Given the description of an element on the screen output the (x, y) to click on. 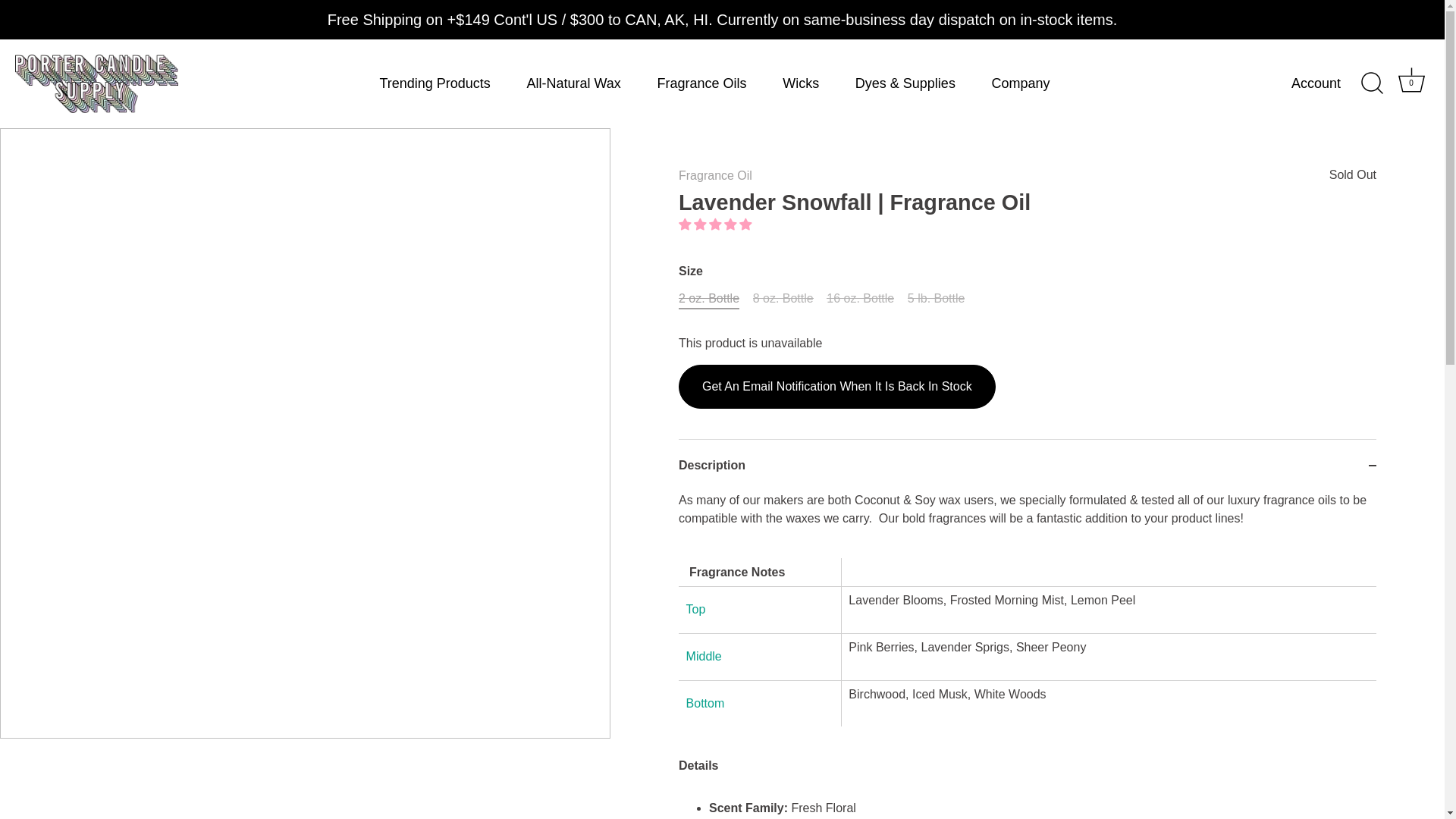
Trending Products (434, 83)
Cart (1411, 79)
All-Natural Wax (574, 83)
Fragrance Oils (701, 83)
